Given the description of an element on the screen output the (x, y) to click on. 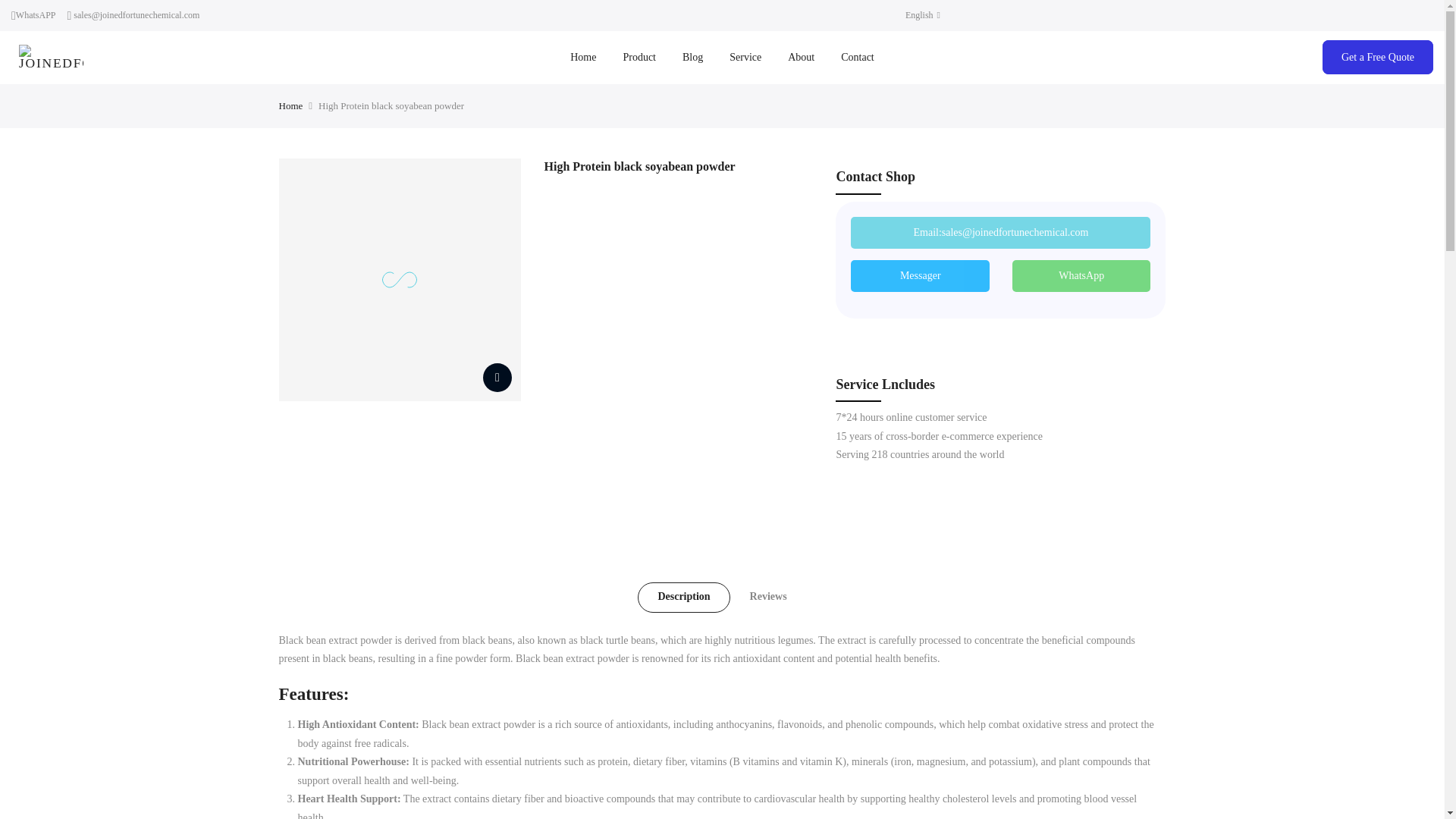
Reviews (768, 597)
Home (583, 57)
Product (639, 57)
Get a Free Quote (1377, 57)
Description (683, 597)
Service (745, 57)
WhatsAPP (36, 14)
About (801, 57)
Contact (858, 57)
WhatsApp (1081, 275)
Messager (920, 275)
Home (290, 106)
